Given the description of an element on the screen output the (x, y) to click on. 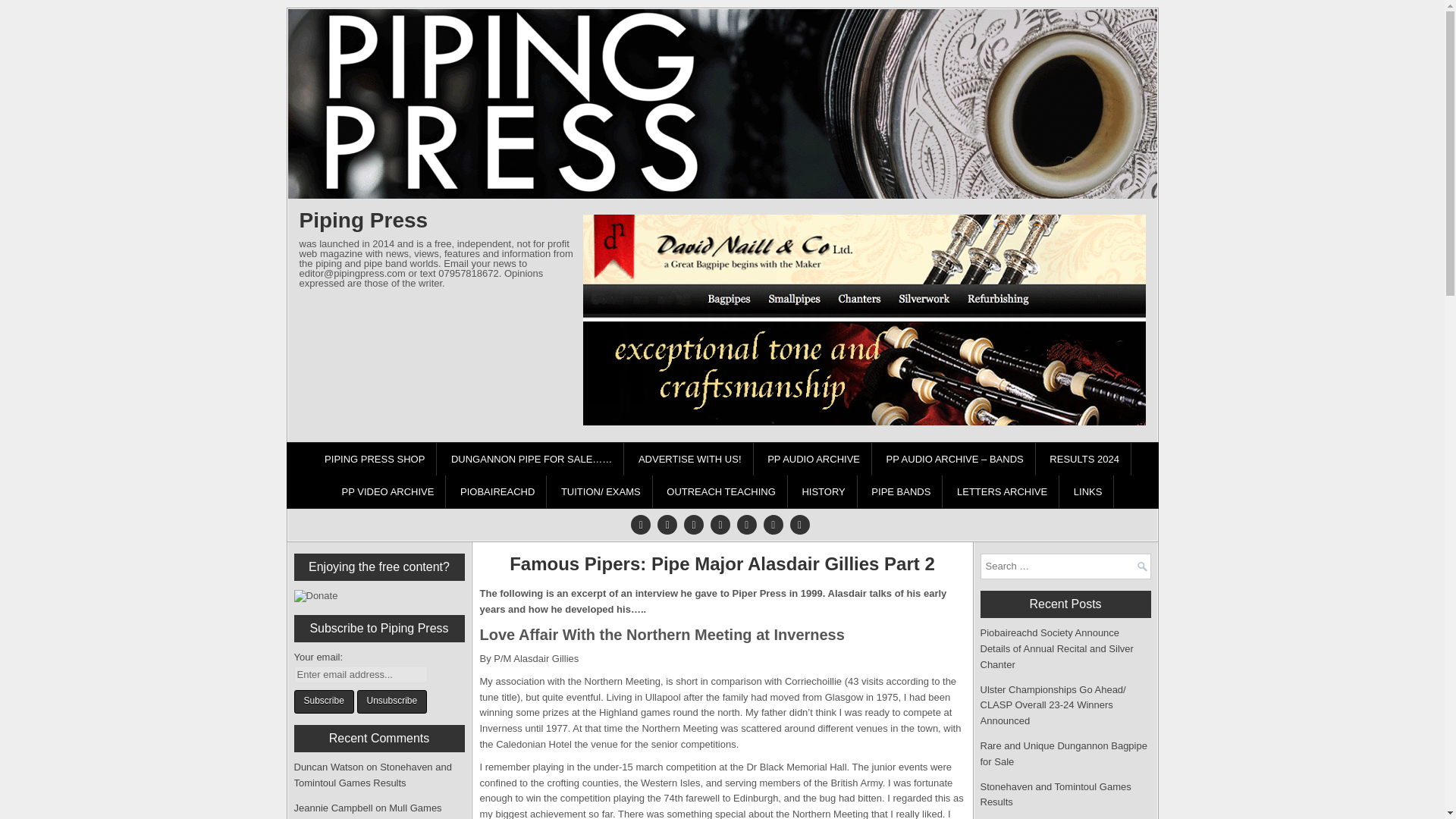
PIPE BANDS (901, 490)
PIPING PRESS SHOP (374, 459)
RESULTS 2024 (1084, 459)
OUTREACH TEACHING (721, 490)
LETTERS ARCHIVE (1001, 490)
Subscribe (323, 701)
Enter email address... (361, 674)
PP VIDEO ARCHIVE (388, 490)
LINKS (1088, 490)
Famous Pipers: Pipe Major Alasdair Gillies Part 2 (721, 564)
Google Plus (693, 523)
Unsubscribe (391, 701)
PP AUDIO ARCHIVE (813, 459)
Twitter (640, 523)
PIOBAIREACHD (497, 490)
